Given the description of an element on the screen output the (x, y) to click on. 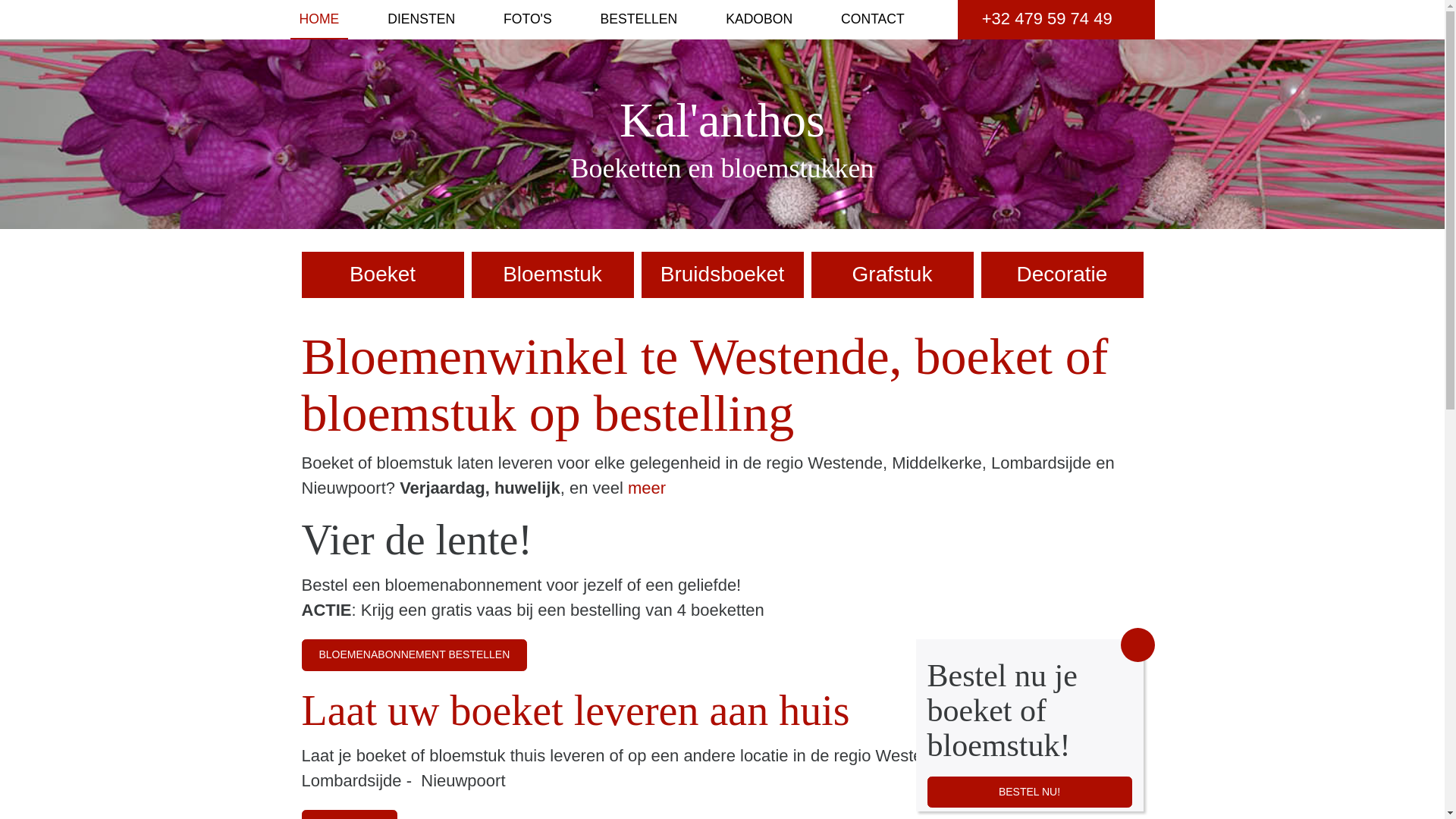
Bruidsboeket Element type: text (722, 274)
DIENSTEN Element type: text (421, 18)
Bloemenwinkel te Westende, boeket of bloemstuk op bestelling Element type: text (704, 384)
BLOEMENABONNEMENT BESTELLEN Element type: text (414, 655)
Kal'anthos Element type: text (722, 120)
Boeket Element type: text (382, 274)
BESTEL NU! Element type: text (1028, 792)
  +32 479 59 74 49 Element type: text (1055, 19)
Bloemstuk Element type: text (552, 274)
FOTO'S Element type: text (527, 18)
Grafstuk Element type: text (892, 274)
KADOBON Element type: text (758, 18)
meer Element type: text (646, 487)
BESTELLEN Element type: text (639, 18)
CONTACT Element type: text (872, 18)
HOME Element type: text (318, 19)
Decoratie Element type: text (1062, 274)
Laat uw boeket leveren aan huis Element type: text (575, 710)
